Given the description of an element on the screen output the (x, y) to click on. 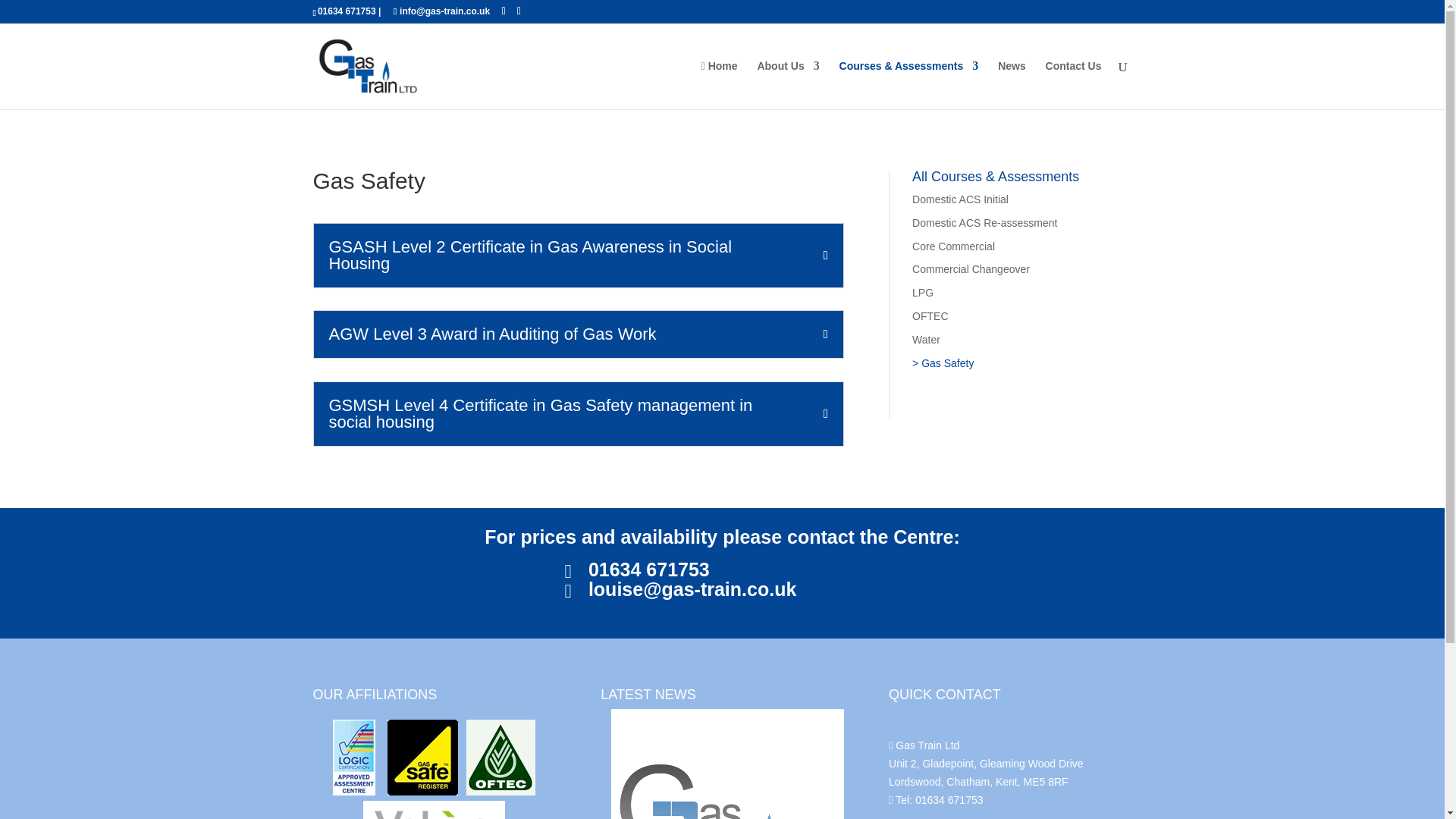
Contact Us (1073, 84)
Domestic ACS Re-assessment (984, 223)
Domestic ACS Initial (960, 199)
Commercial Changeover (970, 268)
About Us (787, 84)
Core Commercial (953, 246)
